Given the description of an element on the screen output the (x, y) to click on. 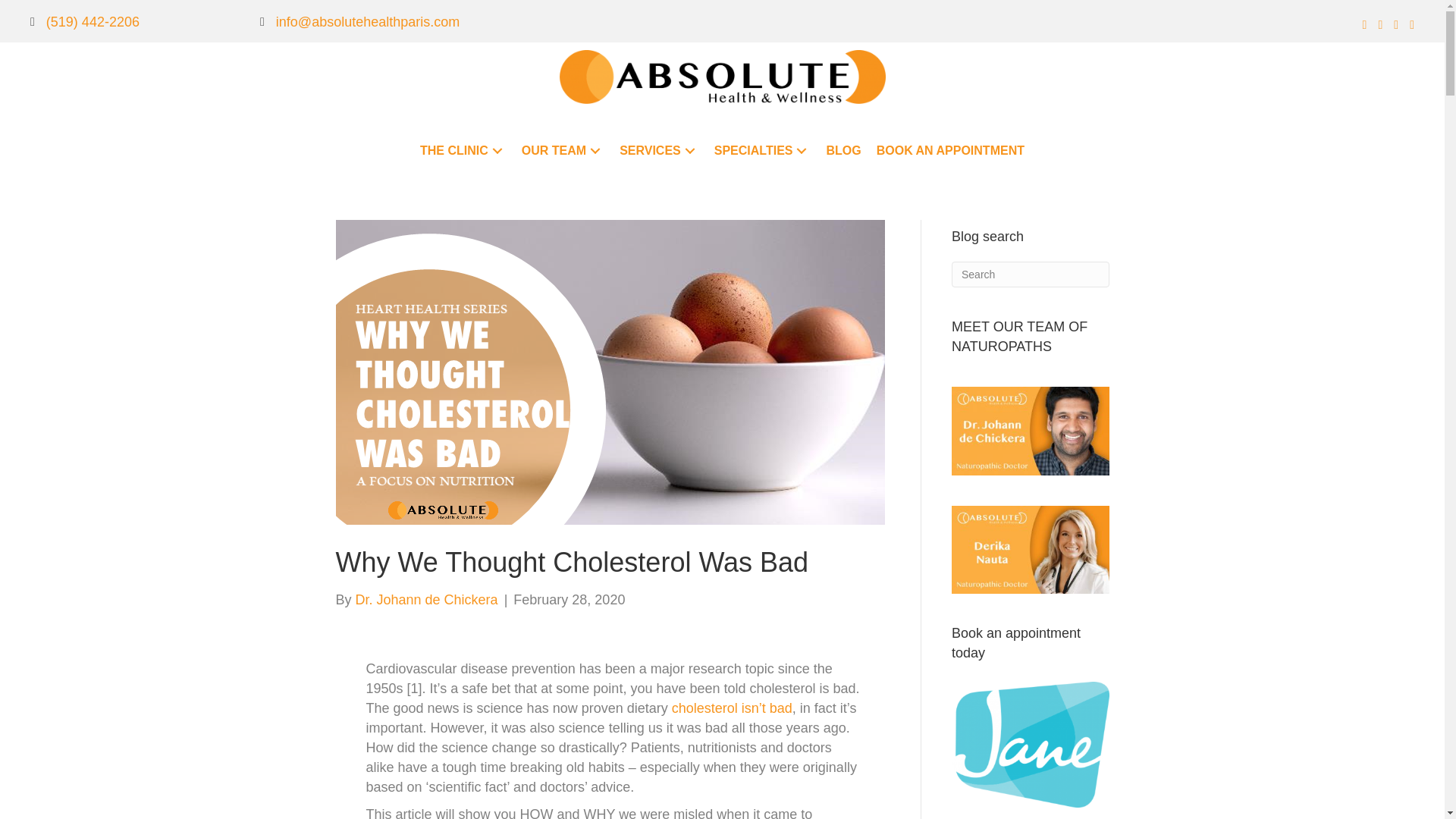
Search (1030, 274)
Type and press Enter to search. (1030, 274)
THE CLINIC (462, 150)
Search (1030, 274)
OUR TEAM (562, 150)
